Given the description of an element on the screen output the (x, y) to click on. 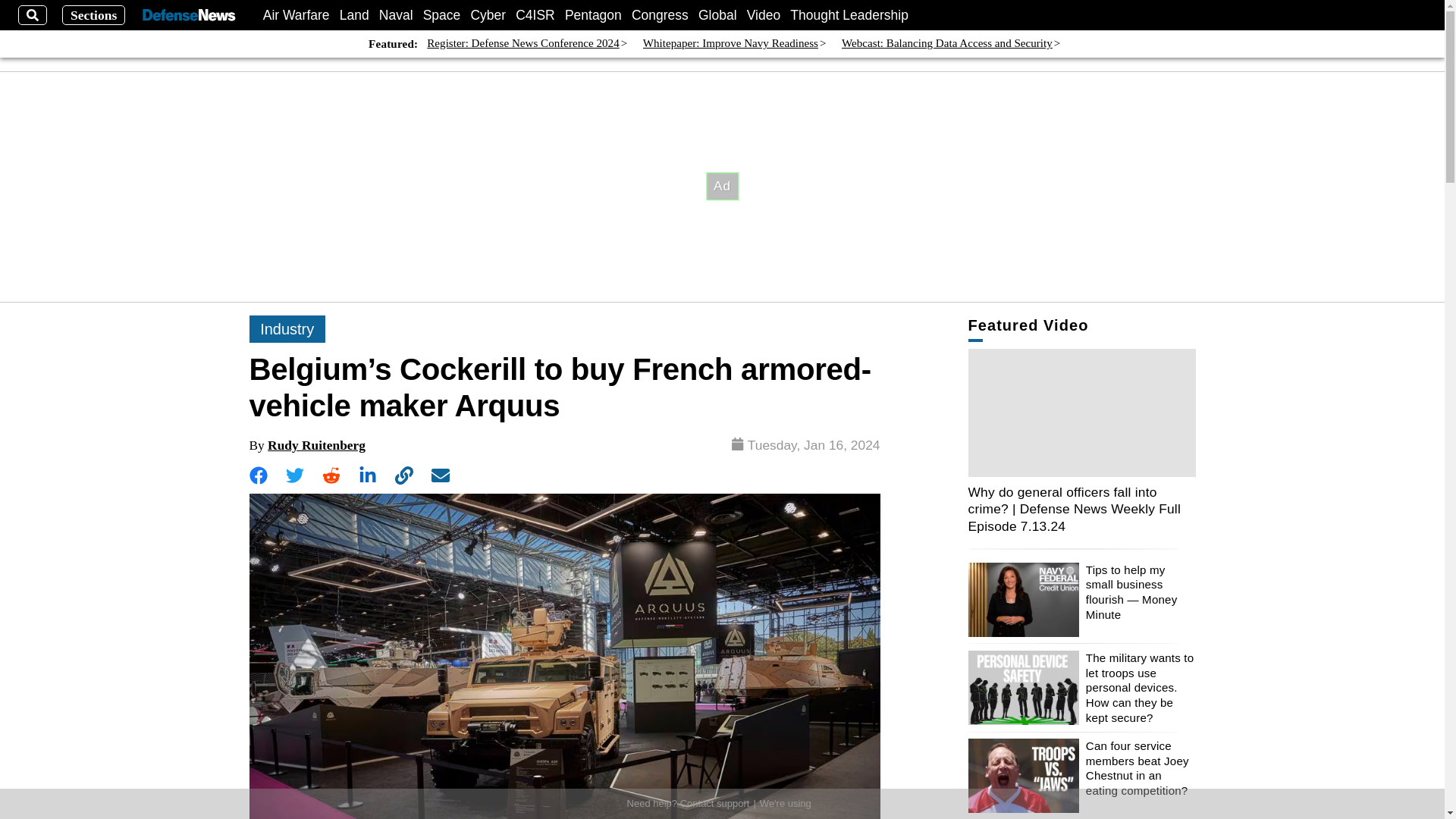
Defense News Logo (188, 14)
Pentagon (592, 14)
Sections (93, 14)
Global (717, 14)
Land (354, 14)
Air Warfare (296, 14)
Space (442, 14)
Thought Leadership (849, 14)
Congress (659, 14)
Naval (395, 14)
Video (763, 14)
